Given the description of an element on the screen output the (x, y) to click on. 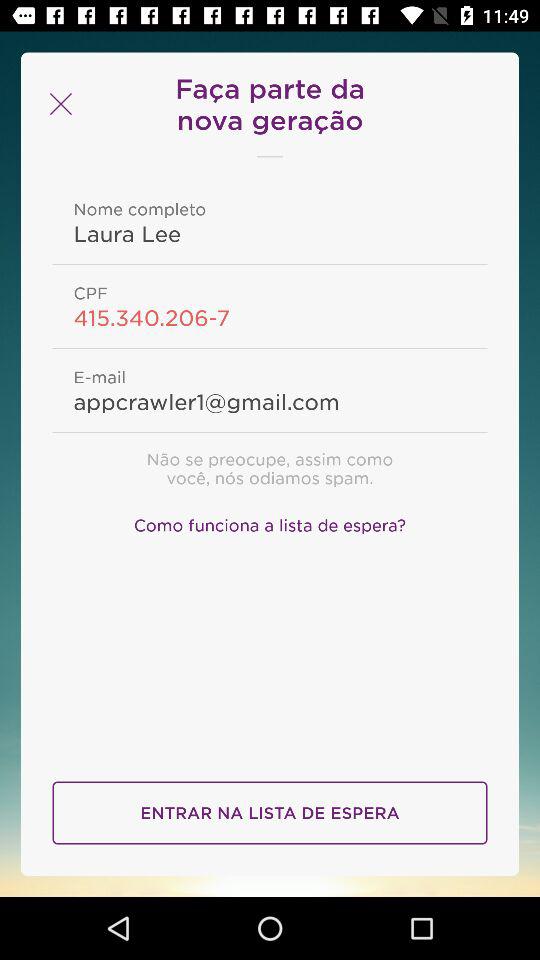
open the item below e-mail item (269, 401)
